Given the description of an element on the screen output the (x, y) to click on. 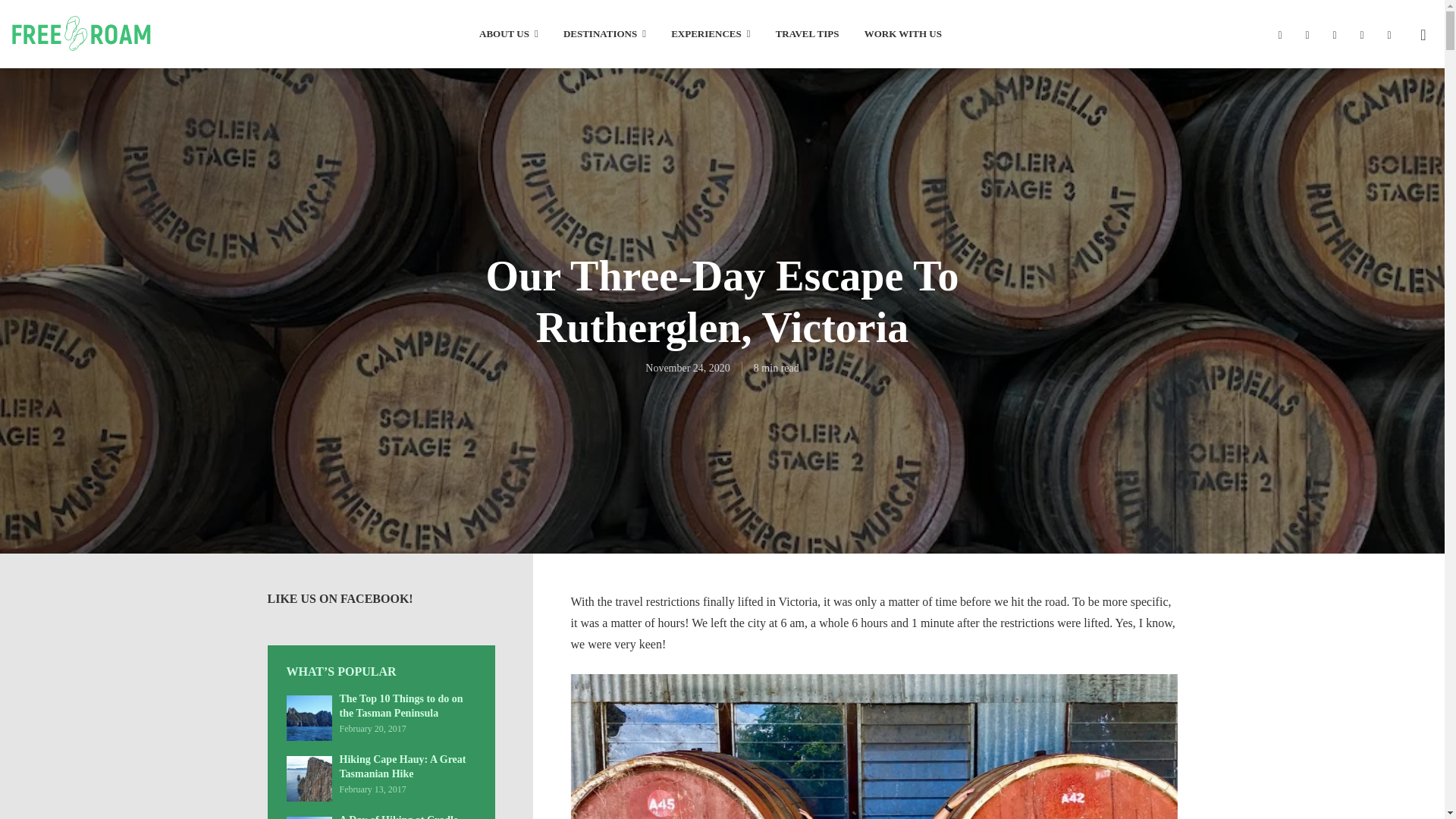
ABOUT US (508, 34)
About Free Two Roam (508, 34)
DESTINATIONS (604, 34)
